Given the description of an element on the screen output the (x, y) to click on. 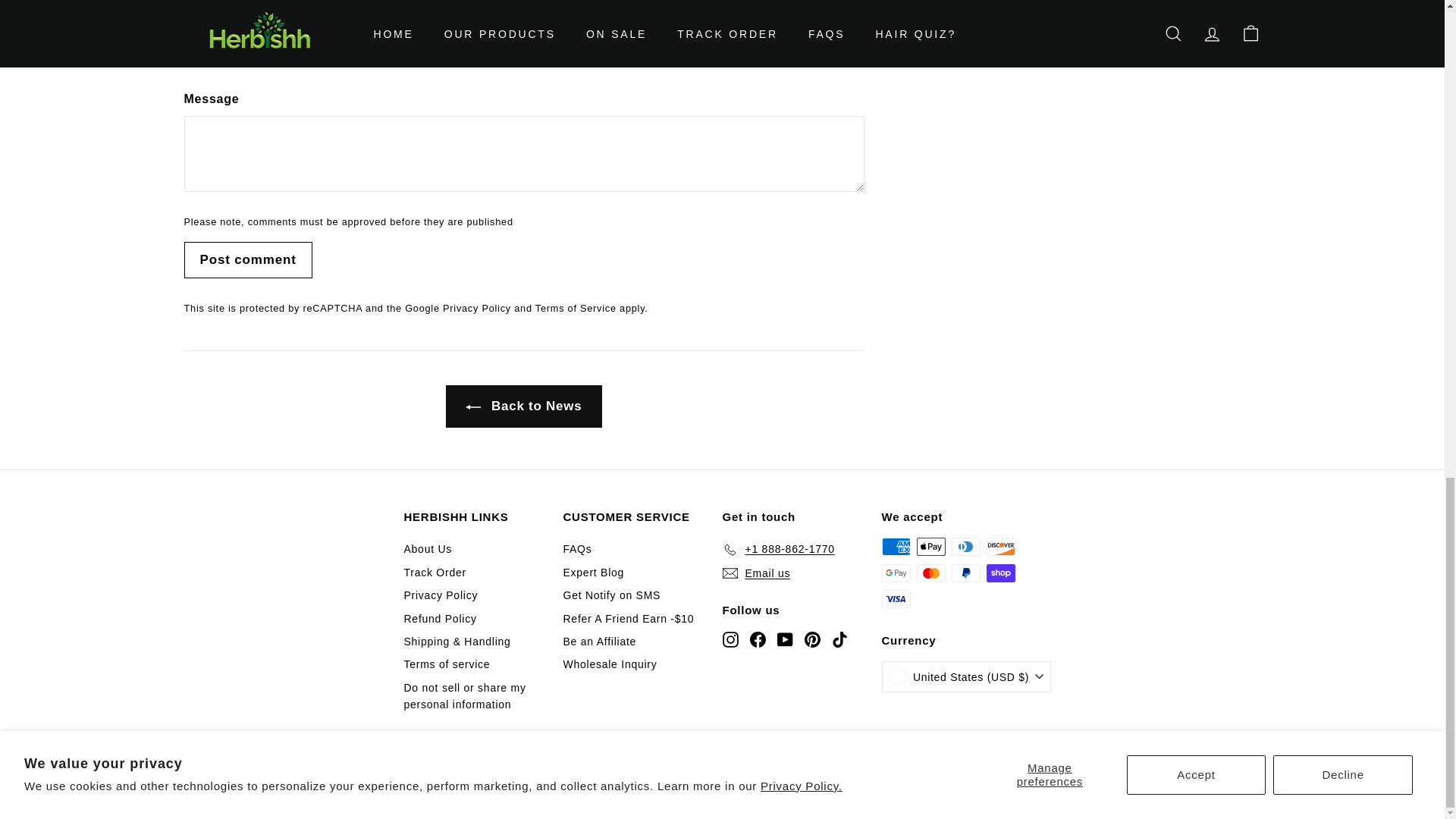
herbishh.com   on Facebook (757, 639)
Discover (999, 546)
Apple Pay (929, 546)
Mastercard (929, 573)
herbishh.com   on TikTok (839, 639)
herbishh.com   on Pinterest (811, 639)
Google Pay (895, 573)
American Express (895, 546)
PayPal (964, 573)
herbishh.com   on YouTube (784, 639)
herbishh.com   on Instagram (730, 639)
Diners Club (964, 546)
